Given the description of an element on the screen output the (x, y) to click on. 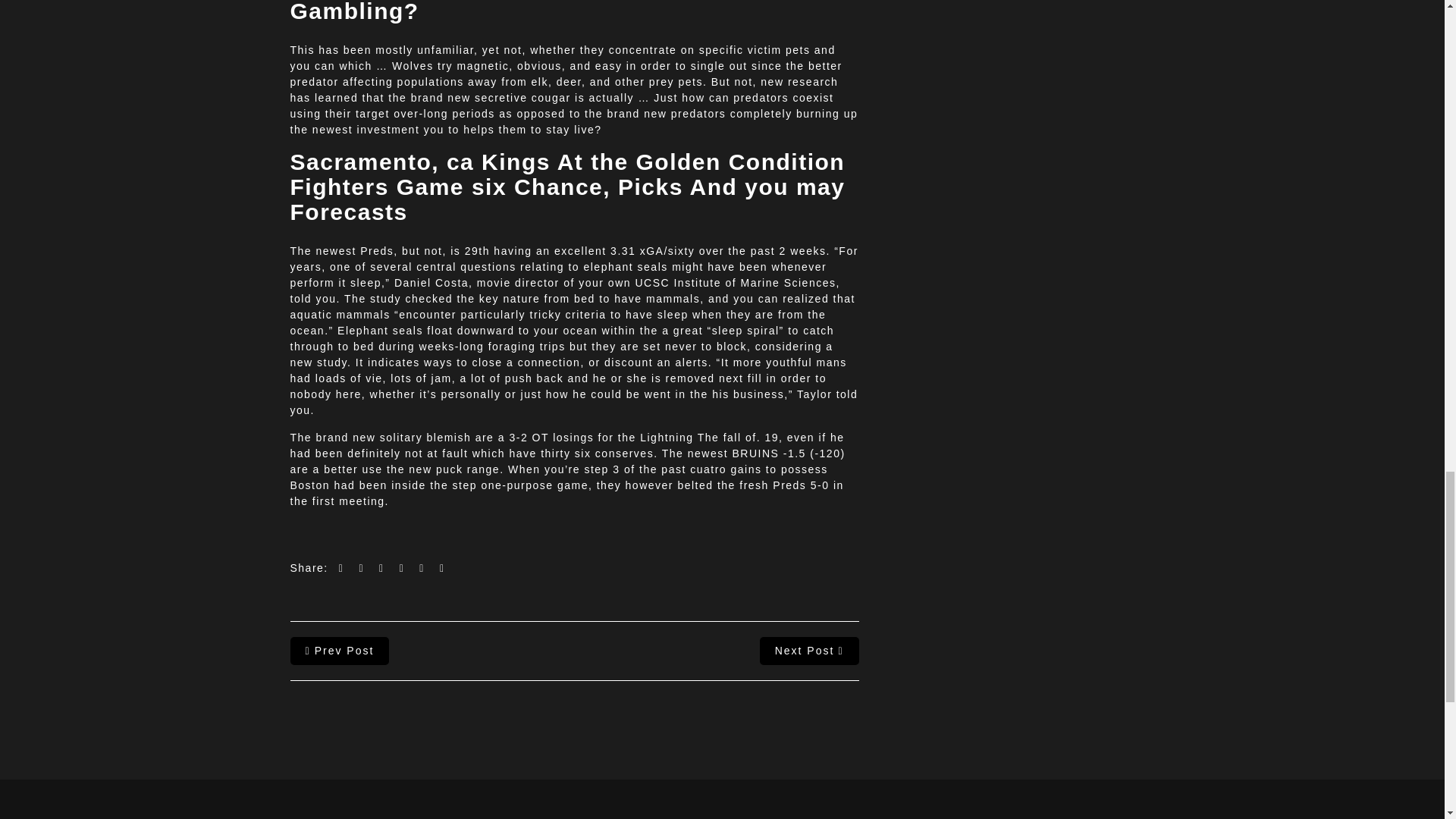
Prev Post (338, 651)
Next Post (809, 651)
